Given the description of an element on the screen output the (x, y) to click on. 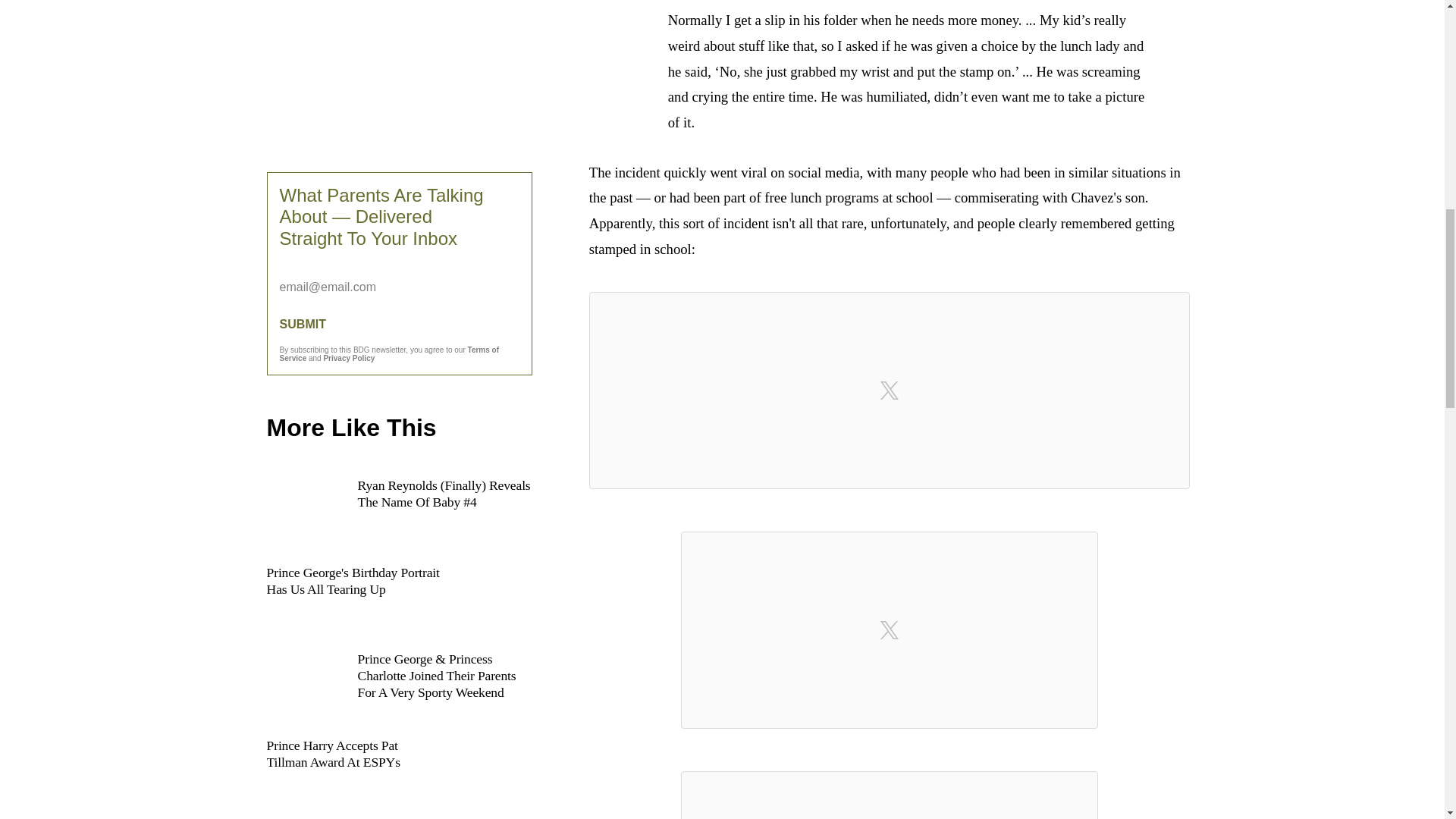
Terms of Service (389, 353)
Prince Harry Accepts Pat Tillman Award At ESPYs (399, 771)
Prince George's Birthday Portrait Has Us All Tearing Up (399, 599)
Privacy Policy (348, 357)
SUBMIT (399, 324)
